Given the description of an element on the screen output the (x, y) to click on. 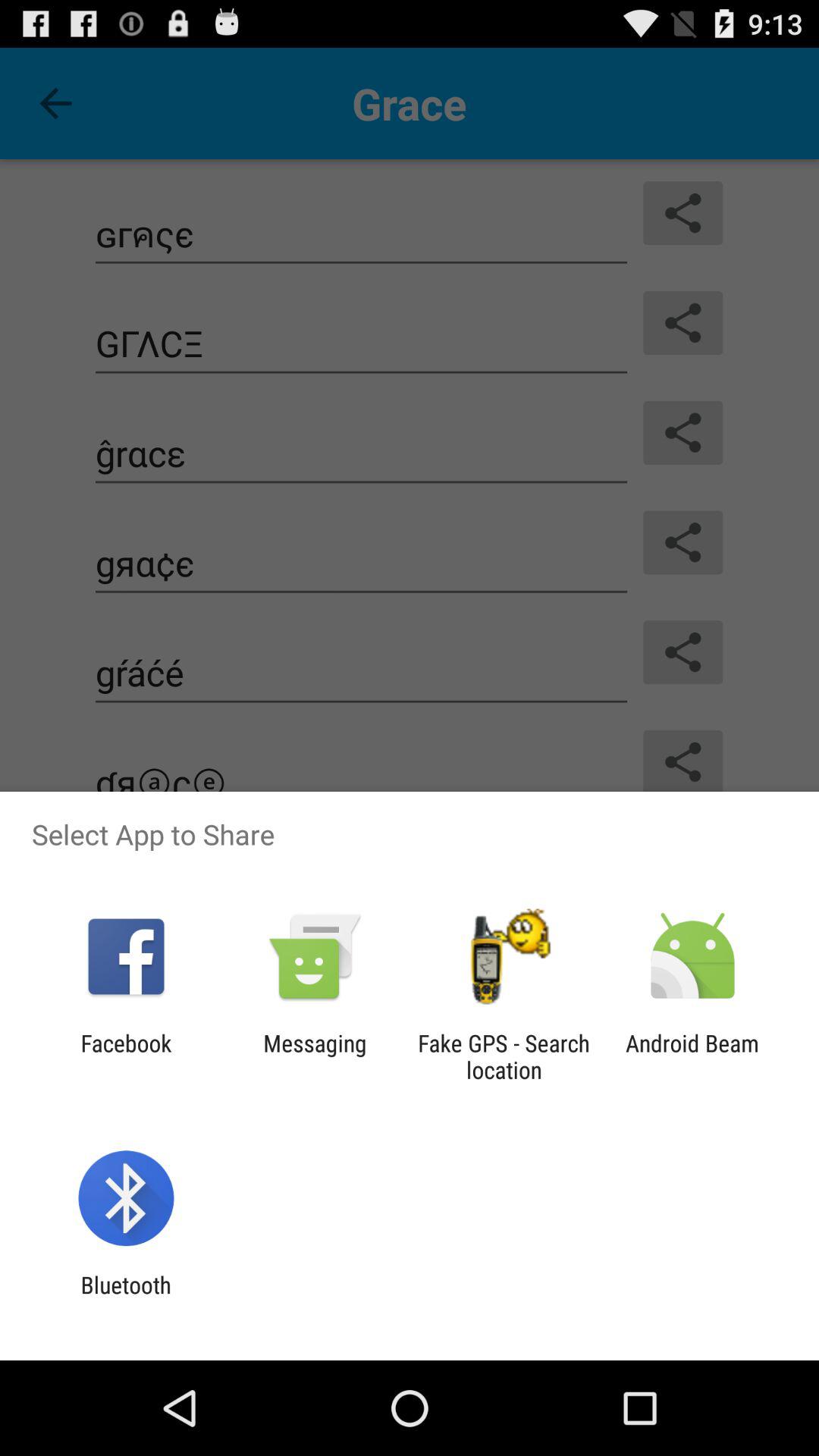
tap icon at the bottom right corner (692, 1056)
